Given the description of an element on the screen output the (x, y) to click on. 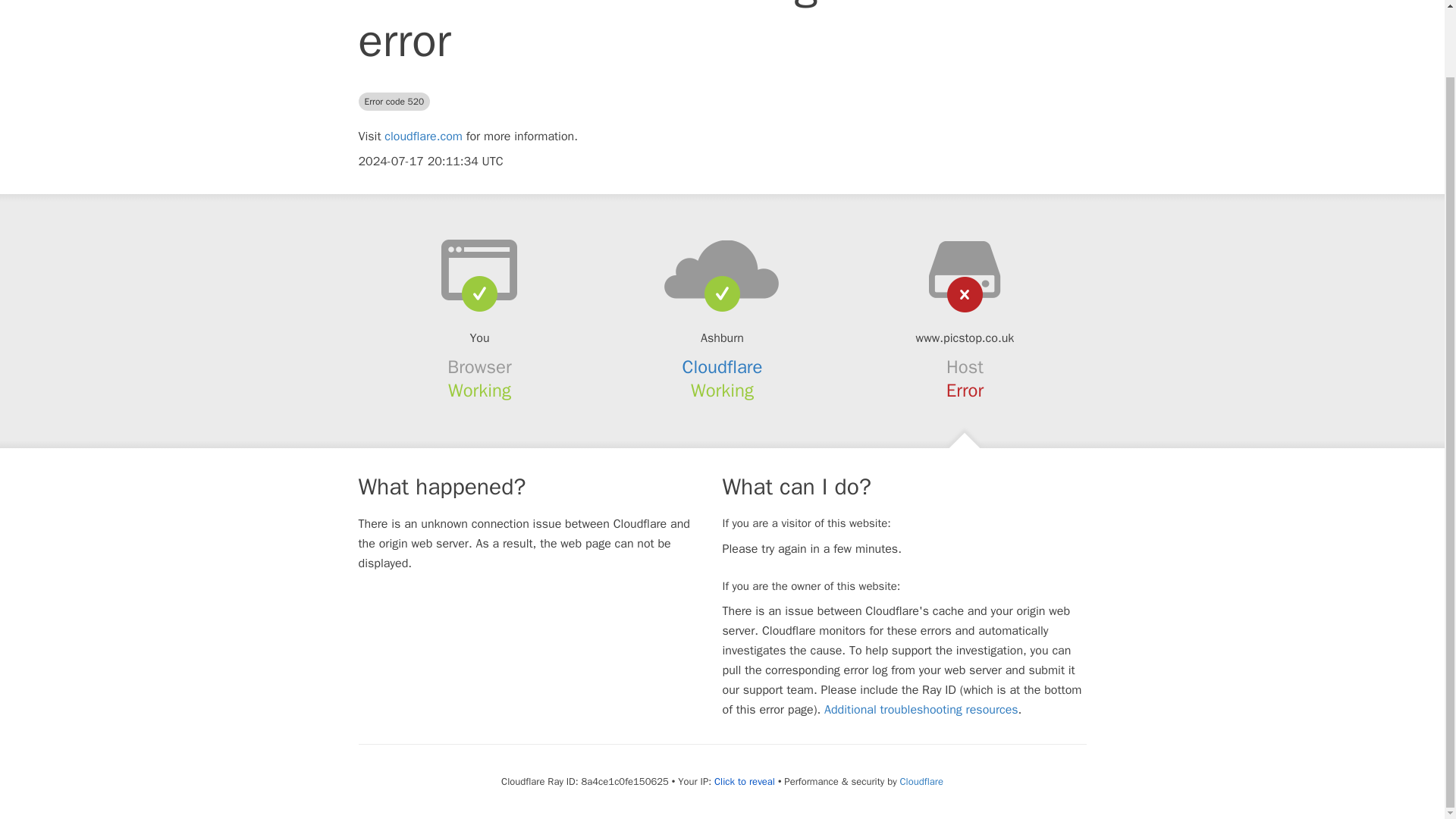
Cloudflare (921, 780)
Cloudflare (722, 366)
Additional troubleshooting resources (920, 709)
cloudflare.com (423, 136)
Click to reveal (744, 781)
